Given the description of an element on the screen output the (x, y) to click on. 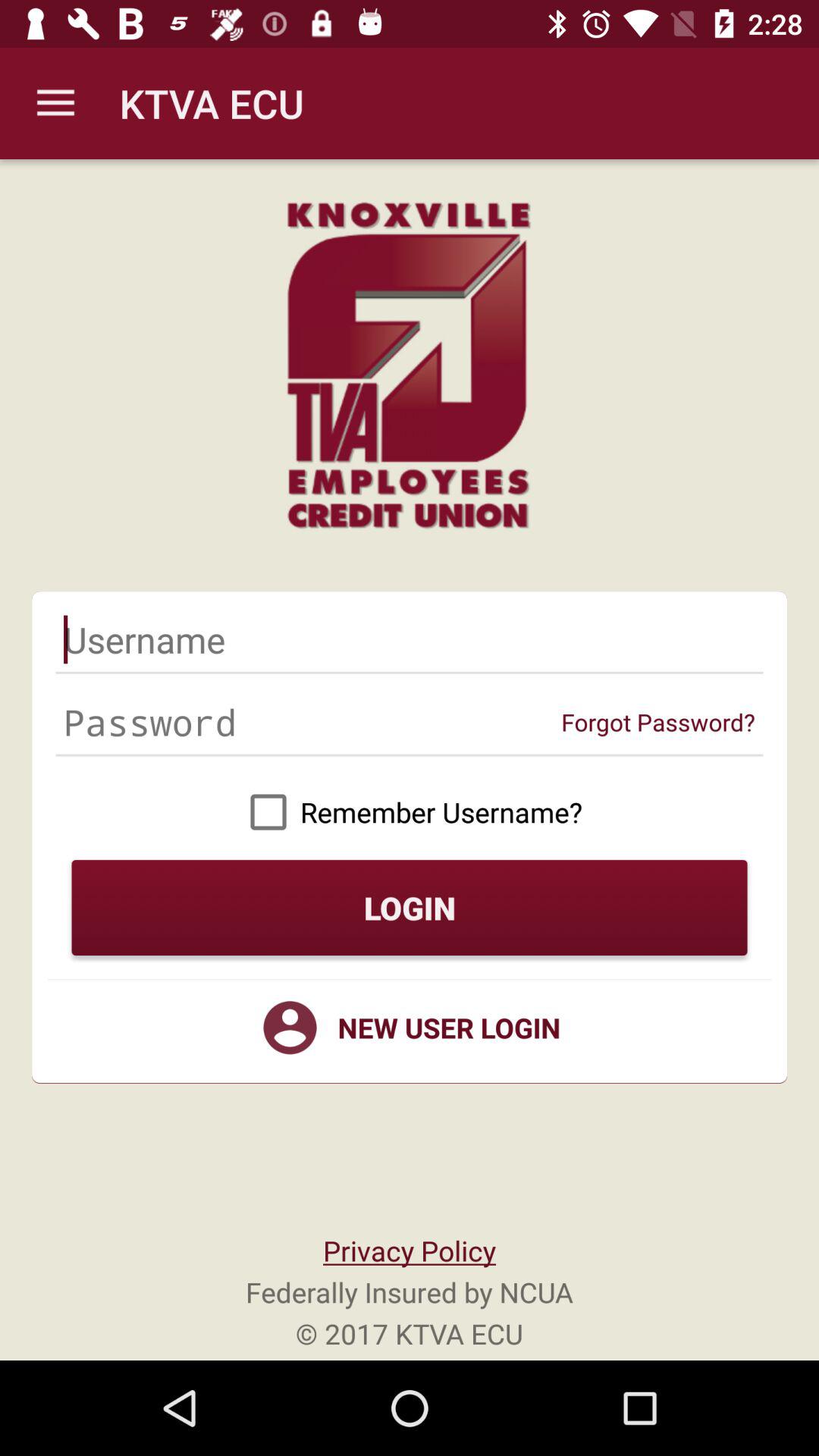
select the privacy policy item (409, 1250)
